Given the description of an element on the screen output the (x, y) to click on. 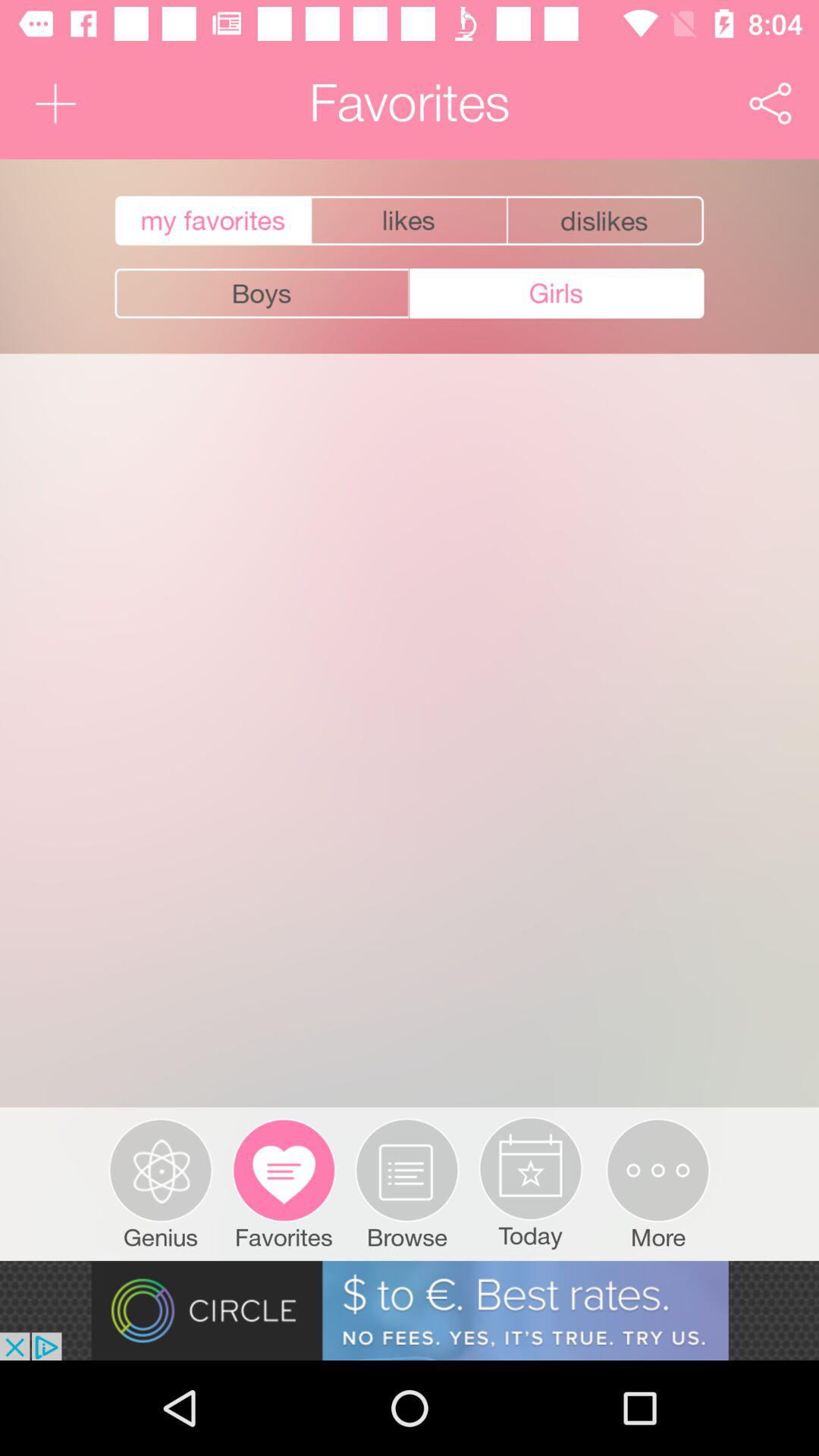
favorites filter choice girls (556, 293)
